Given the description of an element on the screen output the (x, y) to click on. 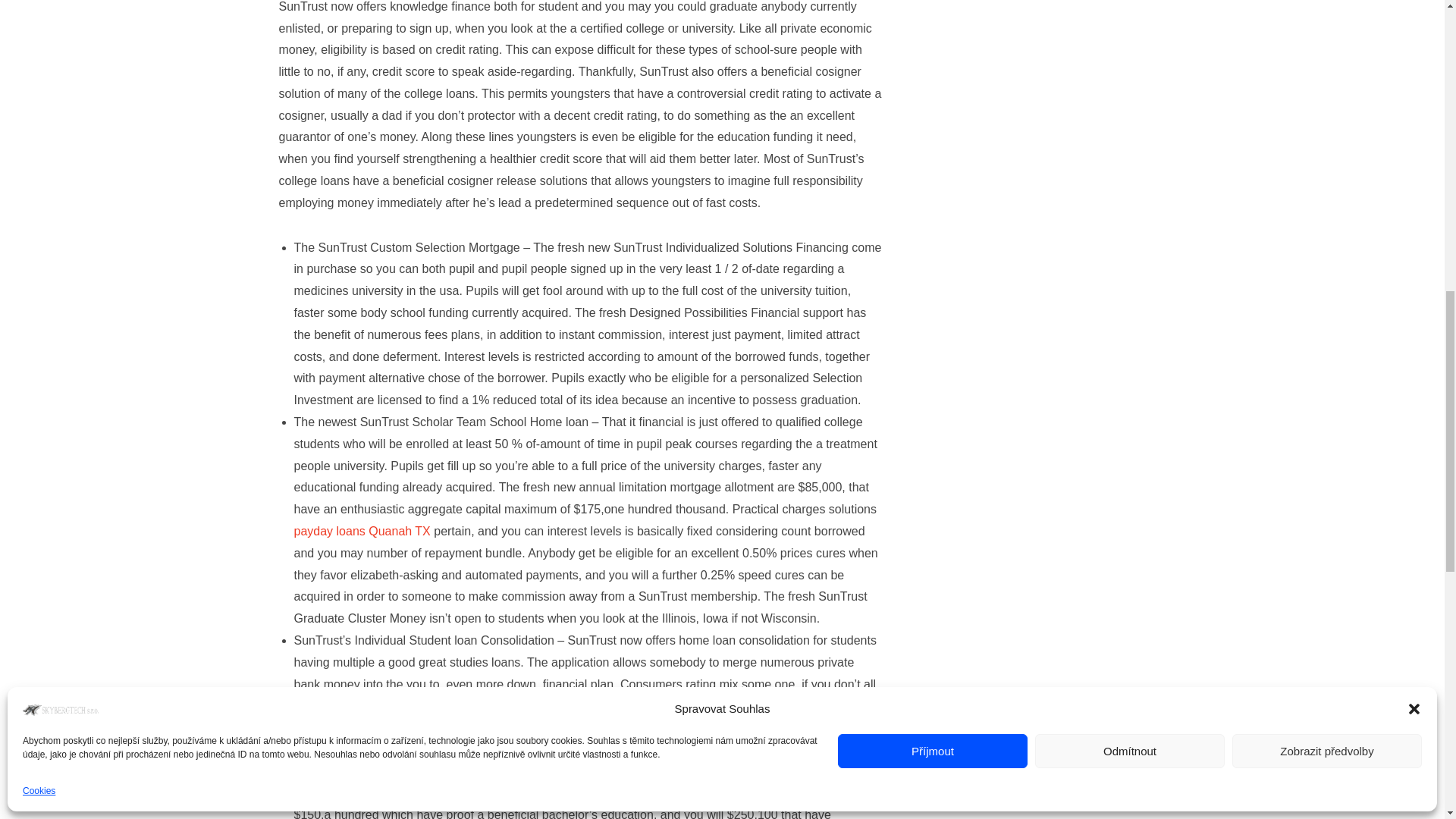
payday loans Quanah TX (362, 530)
